Given the description of an element on the screen output the (x, y) to click on. 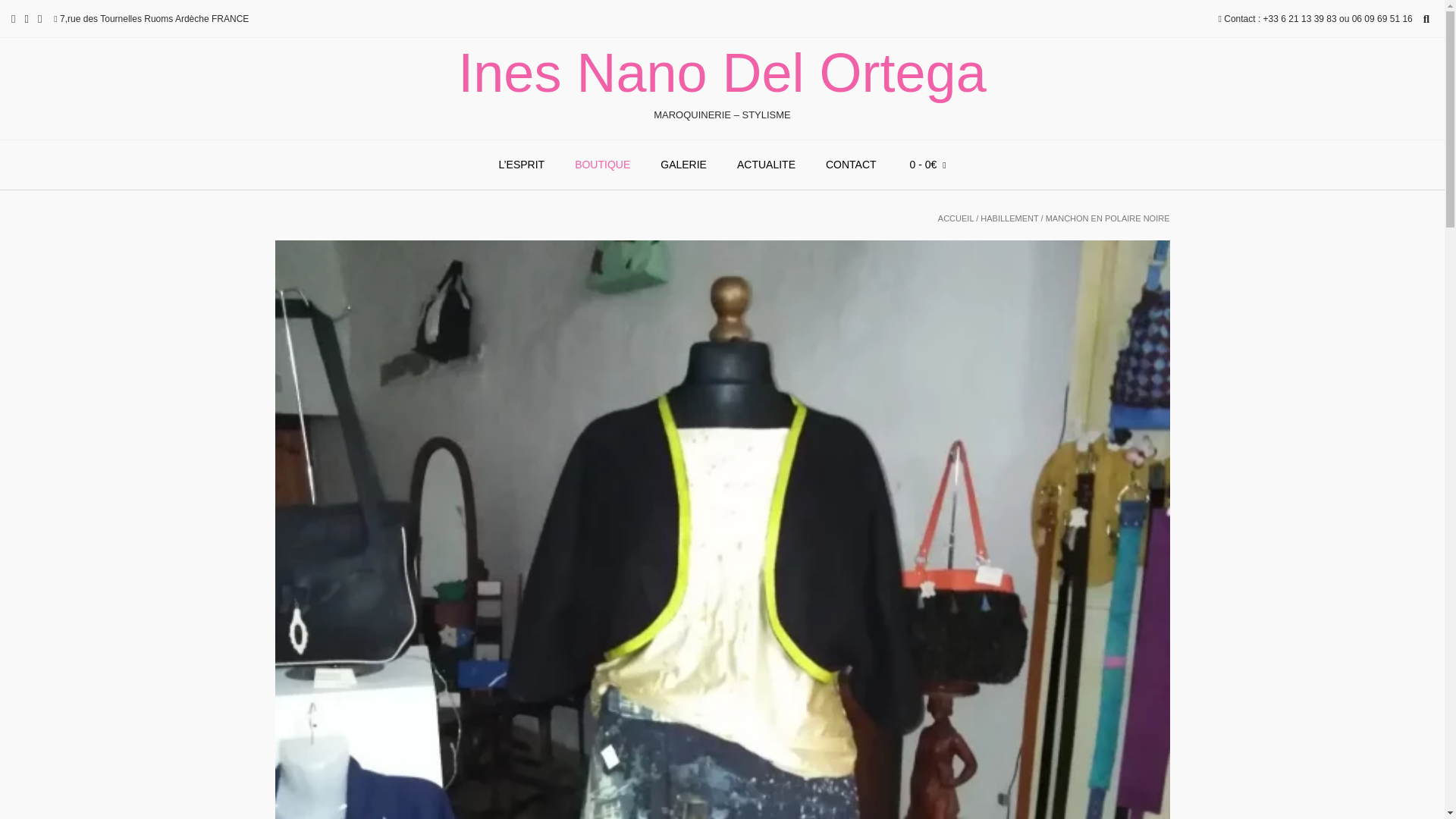
Find Us on LinkedIn (39, 19)
Ines Nano Del Ortega (721, 72)
Send Us an Email (12, 19)
ACTUALITE (766, 165)
GALERIE (683, 165)
View your shopping cart (926, 165)
HABILLEMENT (1008, 217)
ACCUEIL (955, 217)
Ines Nano Del Ortega (721, 72)
Find Us on Facebook (25, 19)
CONTACT (850, 165)
BOUTIQUE (602, 165)
